Given the description of an element on the screen output the (x, y) to click on. 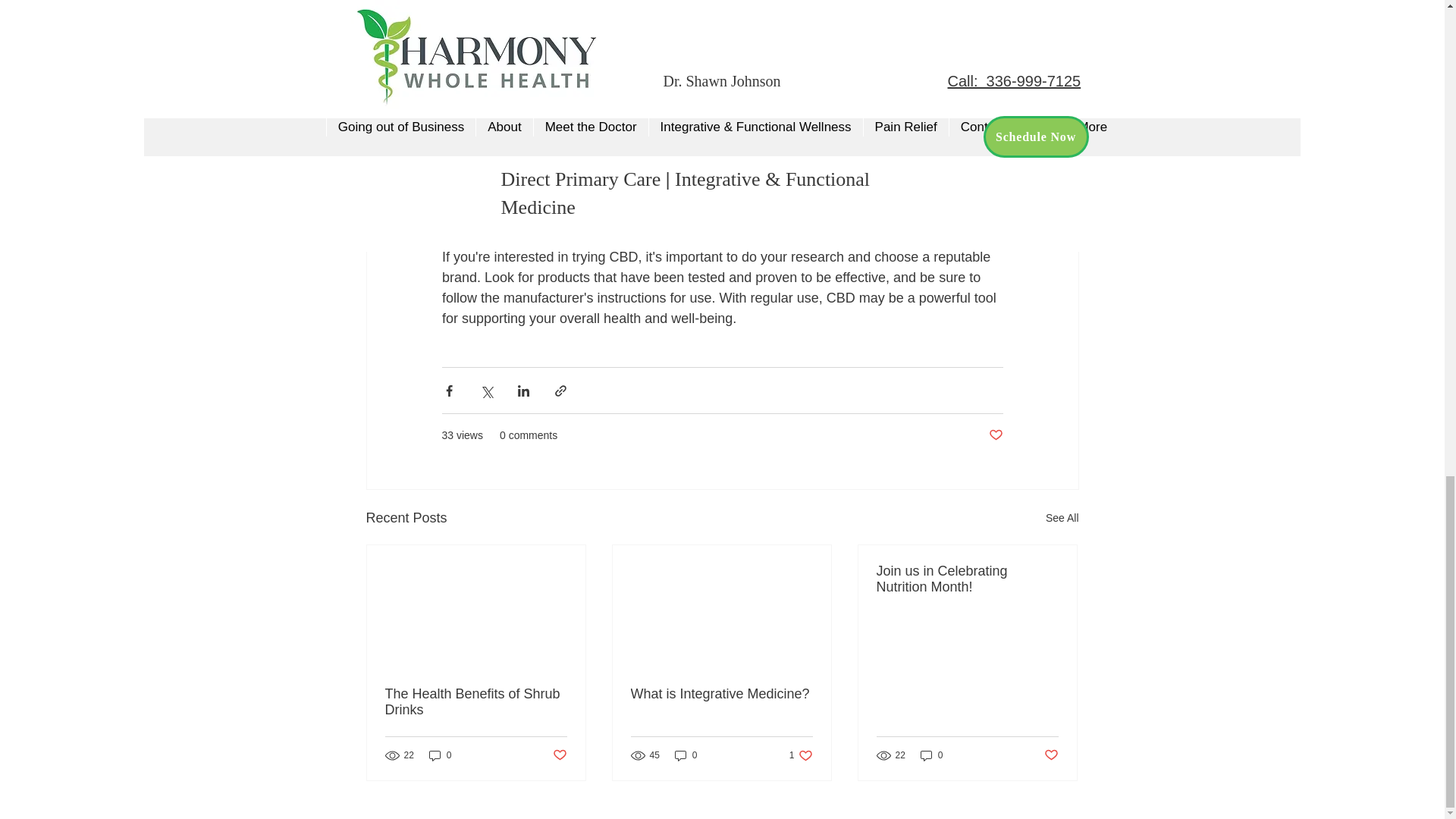
Post not marked as liked (995, 435)
0 (931, 755)
0 (800, 755)
The Health Benefits of Shrub Drinks (685, 755)
Post not marked as liked (476, 702)
0 (1050, 755)
Post not marked as liked (440, 755)
Join us in Celebrating Nutrition Month! (558, 755)
See All (967, 579)
